Given the description of an element on the screen output the (x, y) to click on. 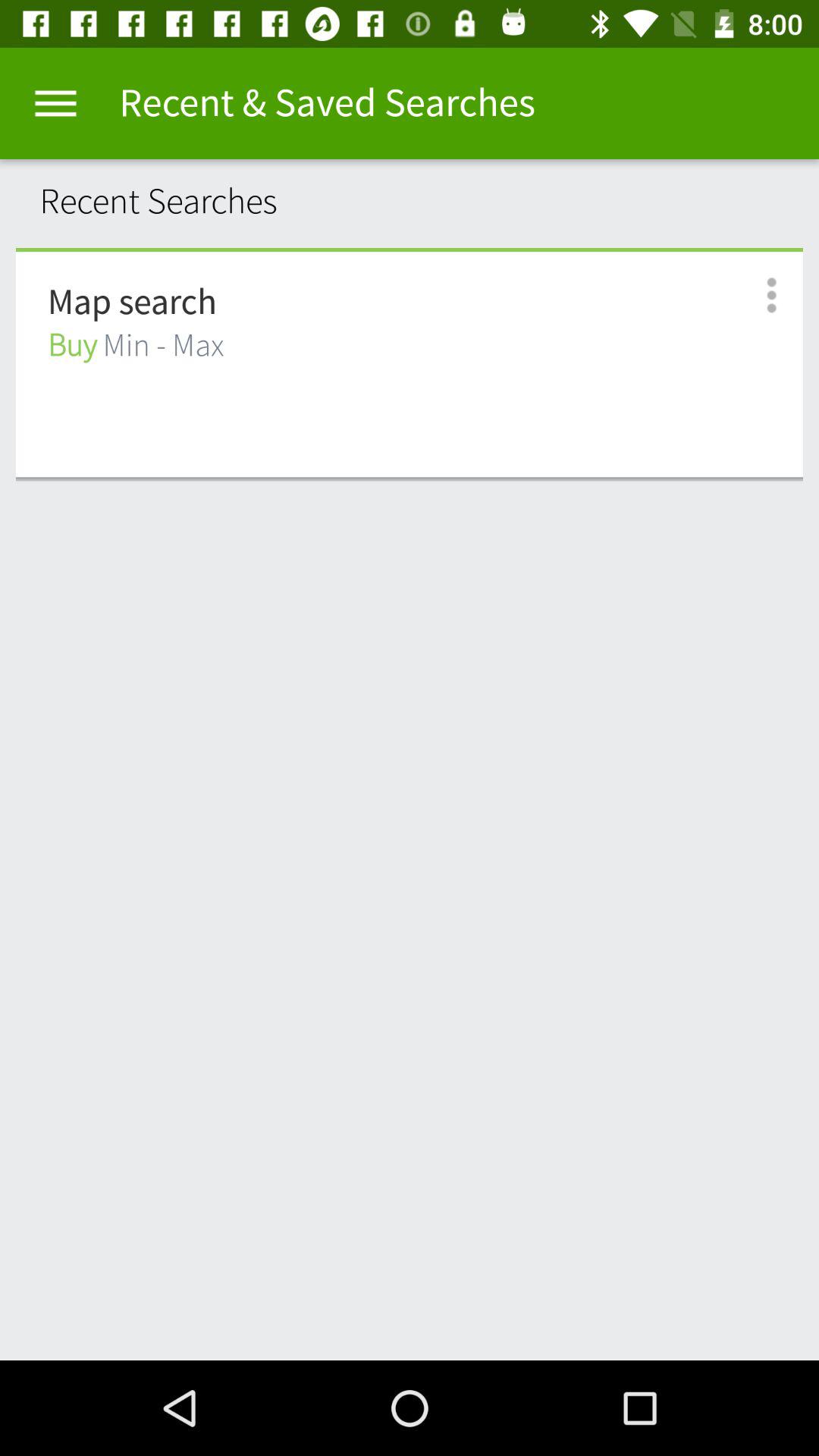
menu button (55, 103)
